Given the description of an element on the screen output the (x, y) to click on. 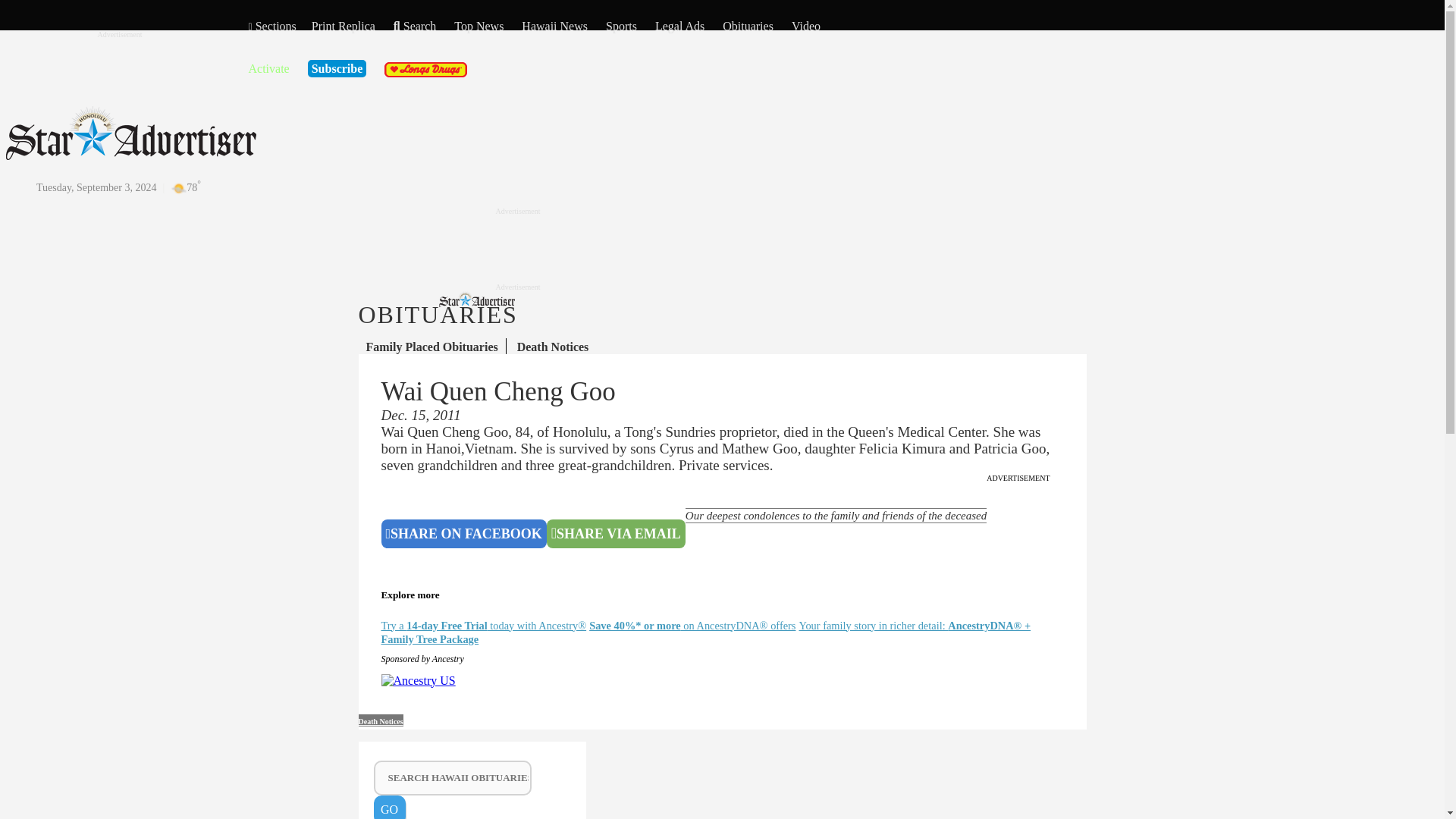
Subscribe (336, 67)
Legal Ads (679, 25)
Longs Drugs (425, 69)
Print Replica (343, 25)
Search (414, 25)
Sports (621, 25)
Top News (478, 25)
Activate (268, 68)
Hawaii News (554, 25)
Video (806, 25)
